Given the description of an element on the screen output the (x, y) to click on. 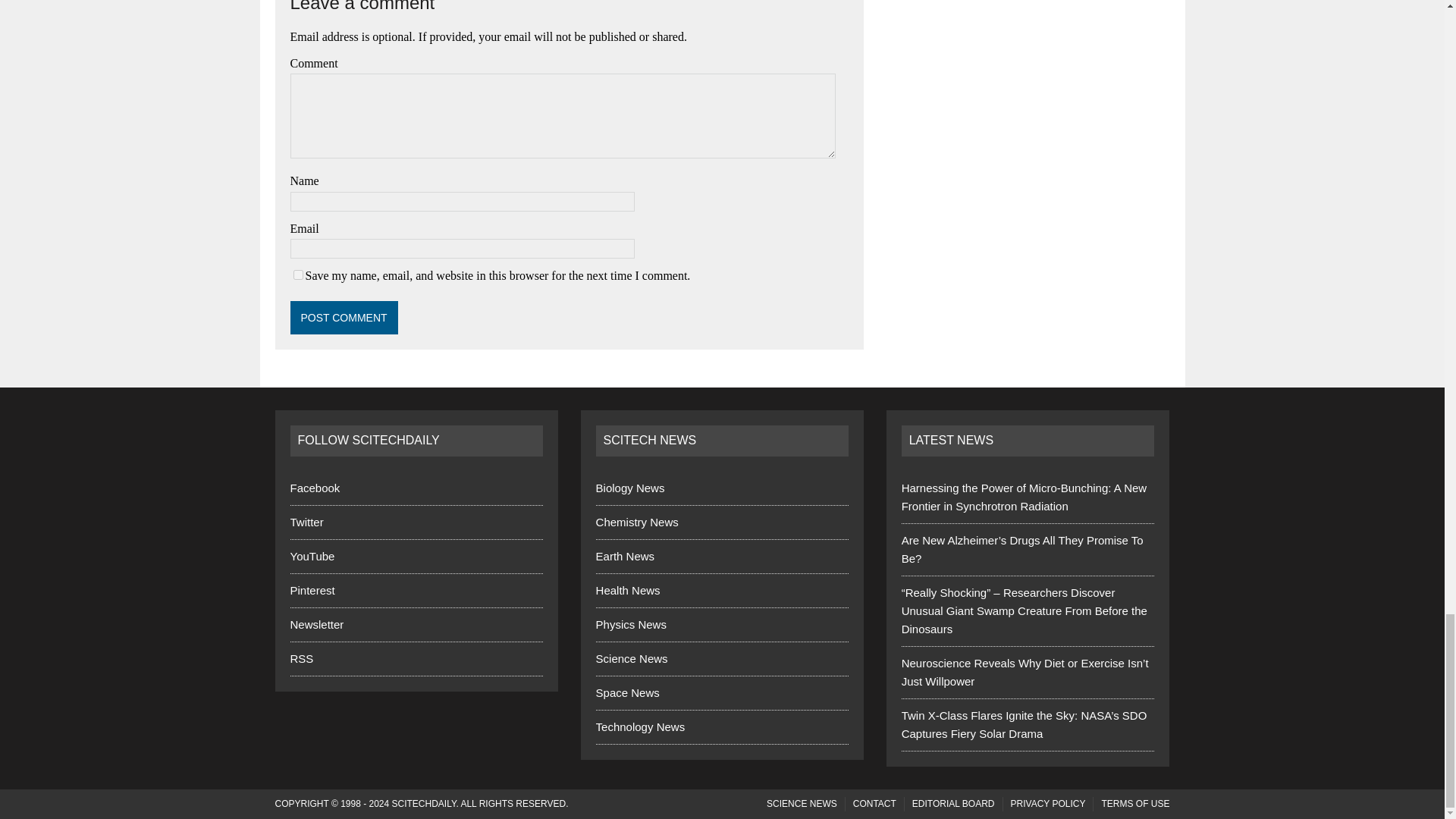
Post Comment (343, 317)
yes (297, 275)
